Given the description of an element on the screen output the (x, y) to click on. 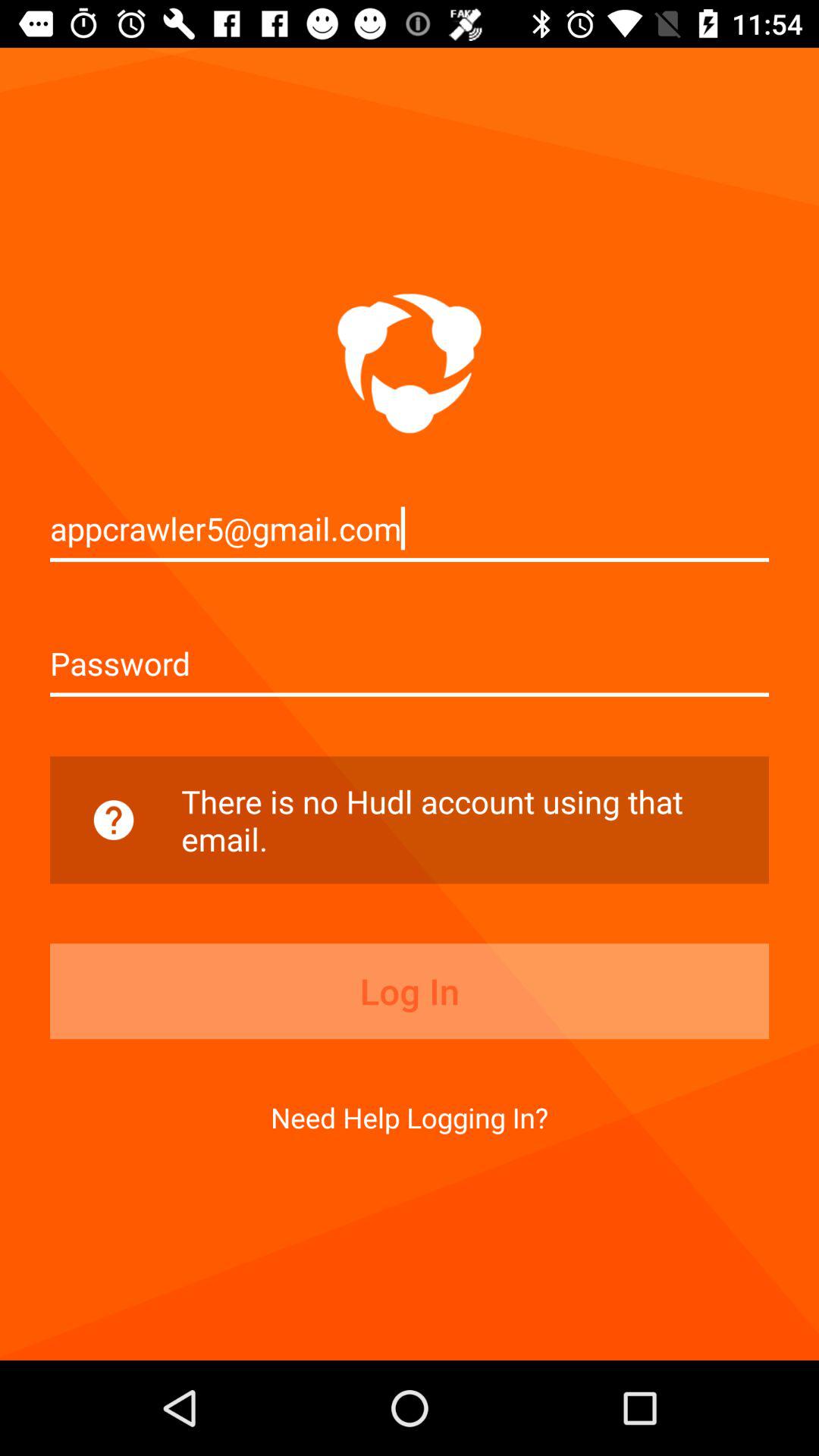
tap log in item (409, 991)
